Given the description of an element on the screen output the (x, y) to click on. 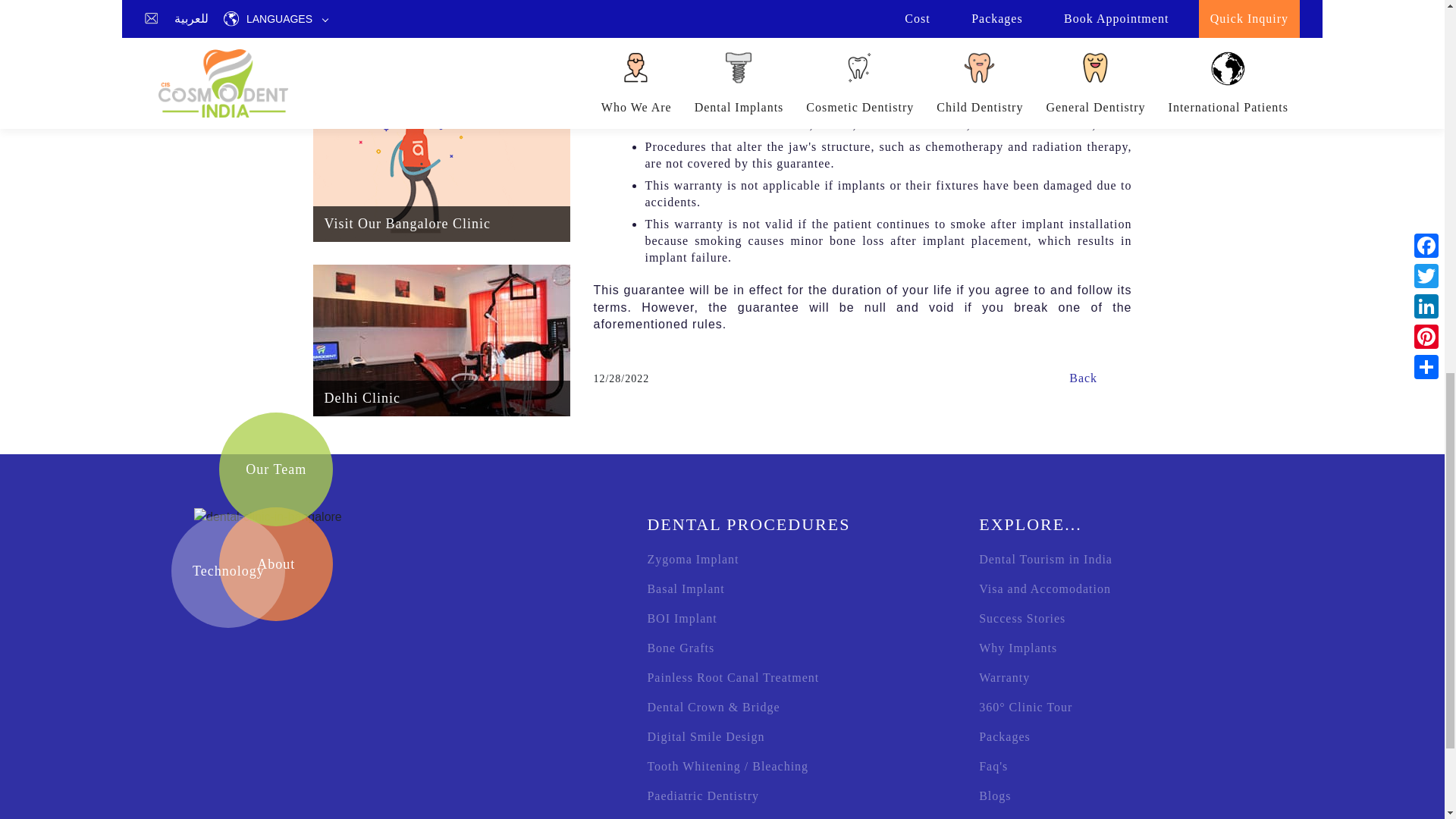
cosmodentindia.com (267, 516)
